Given the description of an element on the screen output the (x, y) to click on. 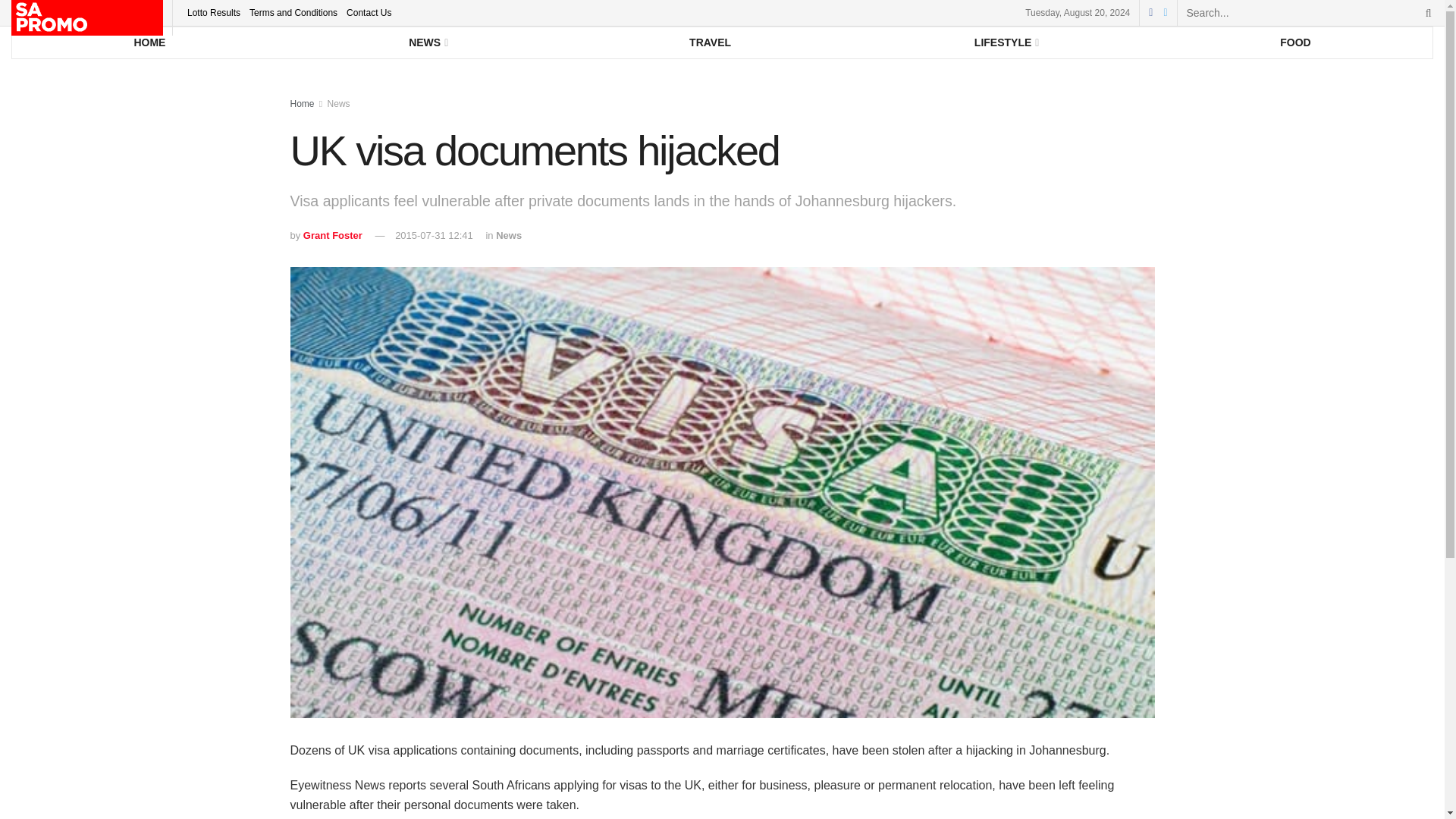
Lotto Results (213, 12)
FOOD (1295, 42)
LIFESTYLE (1004, 42)
TRAVEL (710, 42)
NEWS (426, 42)
HOME (148, 42)
Contact Us (368, 12)
Terms and Conditions (292, 12)
